Given the description of an element on the screen output the (x, y) to click on. 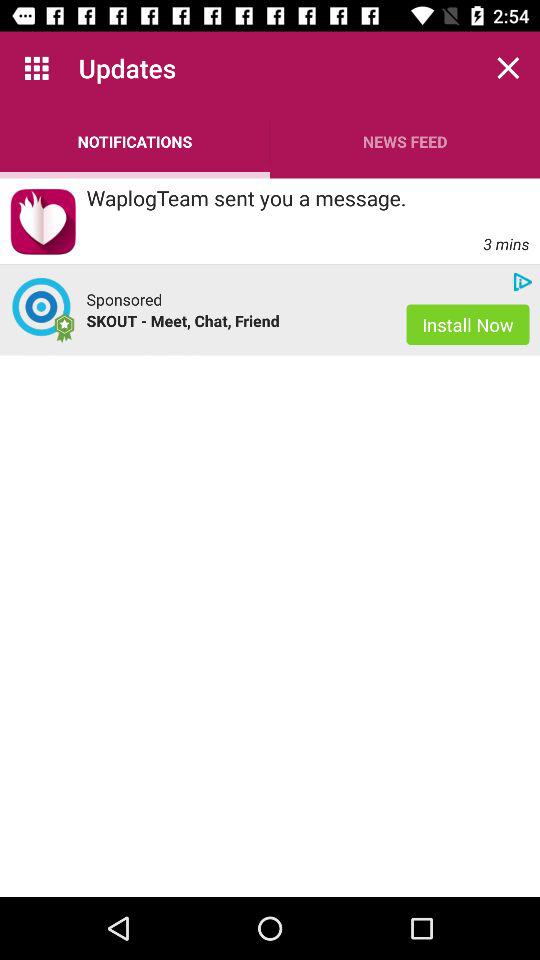
turn off the item to the left of the install now icon (235, 320)
